Given the description of an element on the screen output the (x, y) to click on. 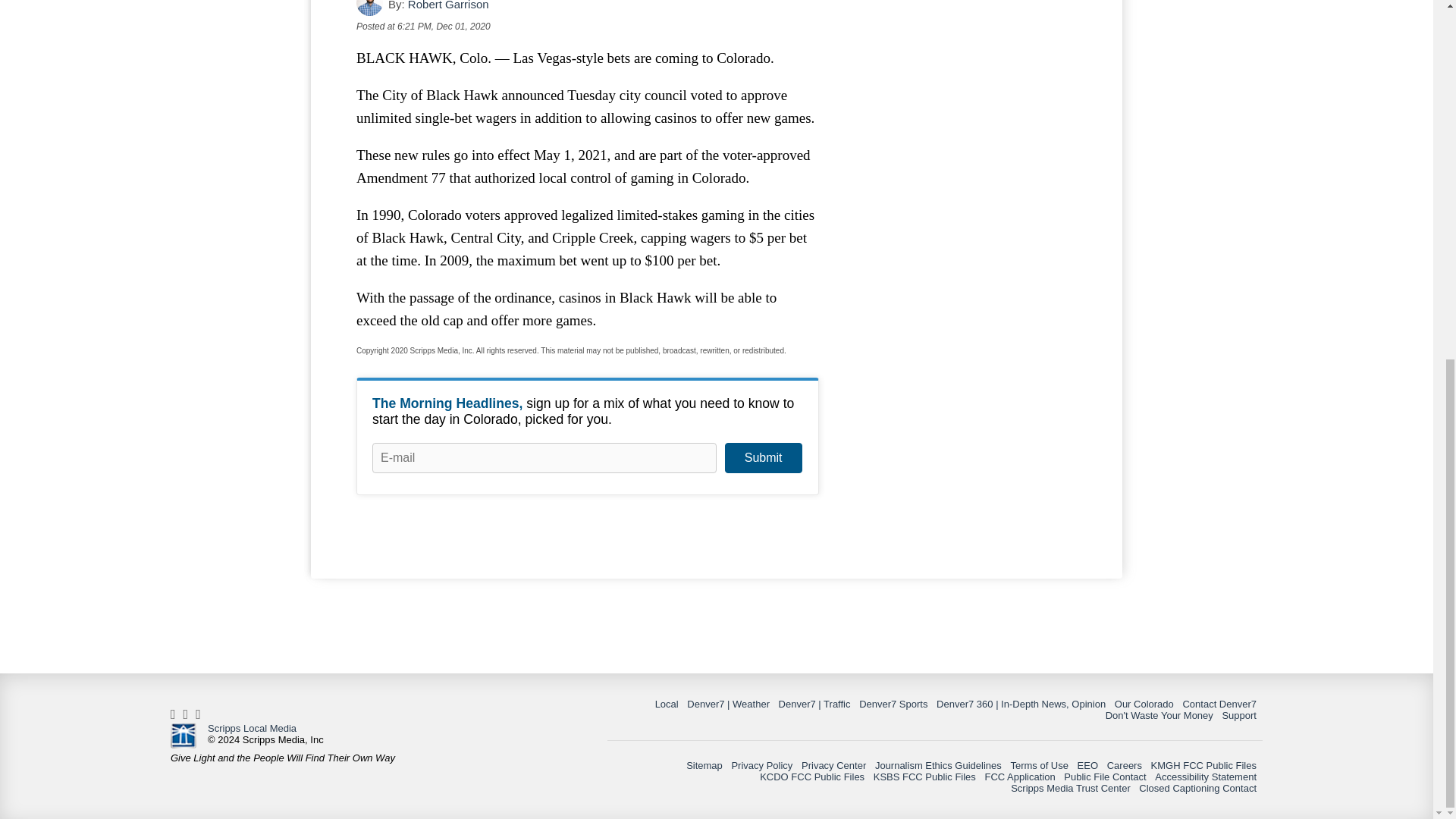
Submit (763, 458)
